Given the description of an element on the screen output the (x, y) to click on. 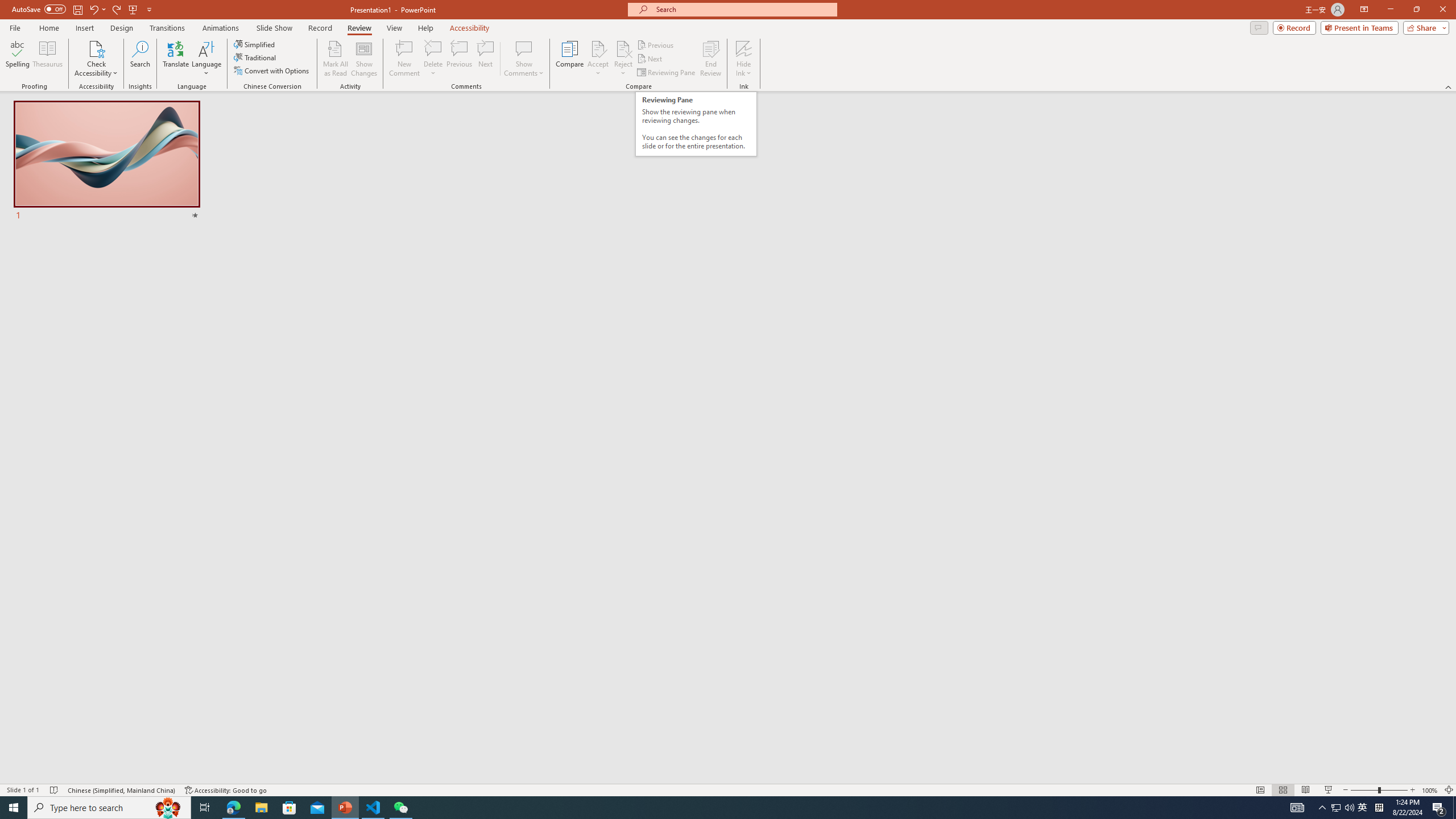
Zoom 100% (1430, 790)
Reject (622, 58)
Show Changes (363, 58)
Convert with Options... (272, 69)
Reviewing Pane (666, 72)
Compare (569, 58)
